Given the description of an element on the screen output the (x, y) to click on. 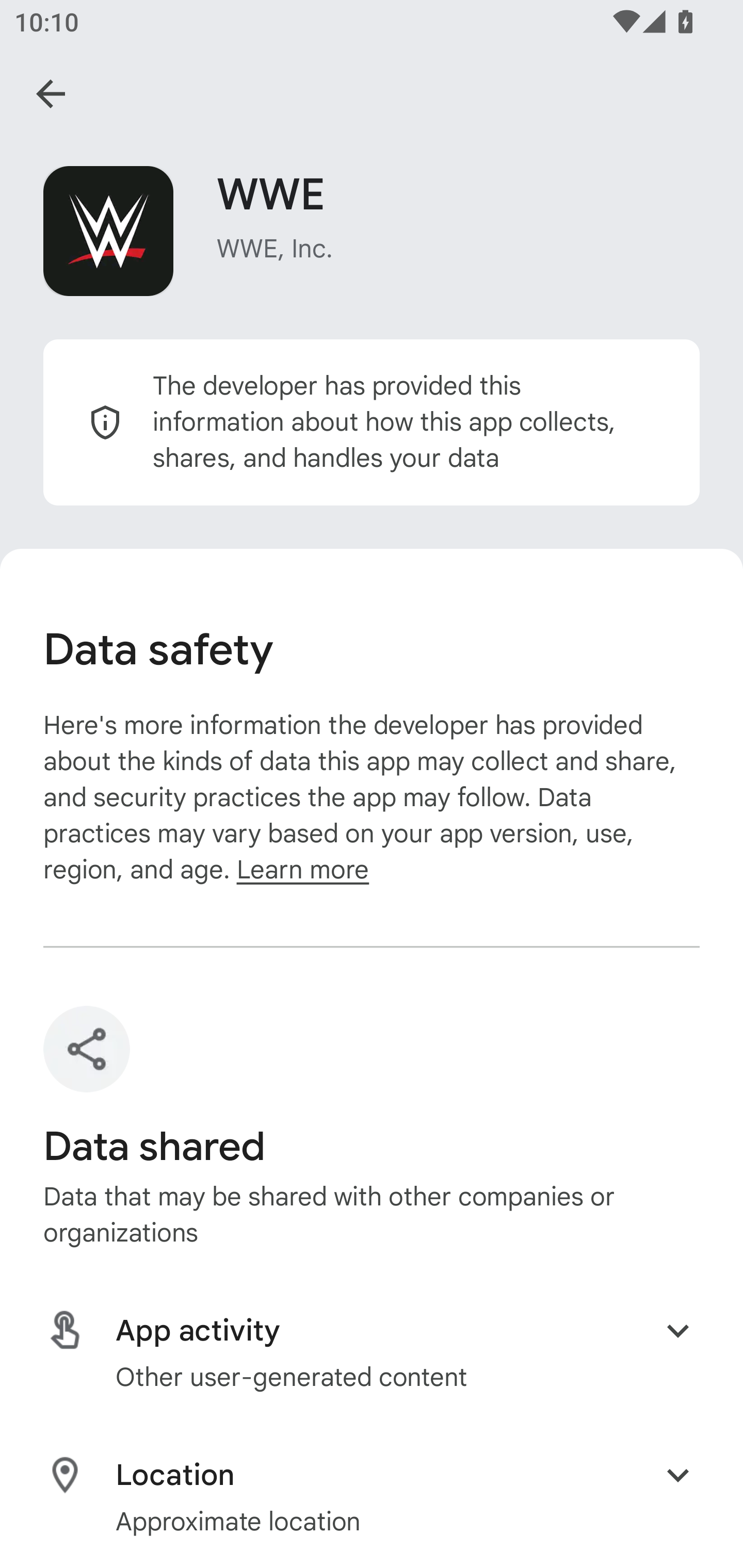
Navigate up (50, 93)
